Given the description of an element on the screen output the (x, y) to click on. 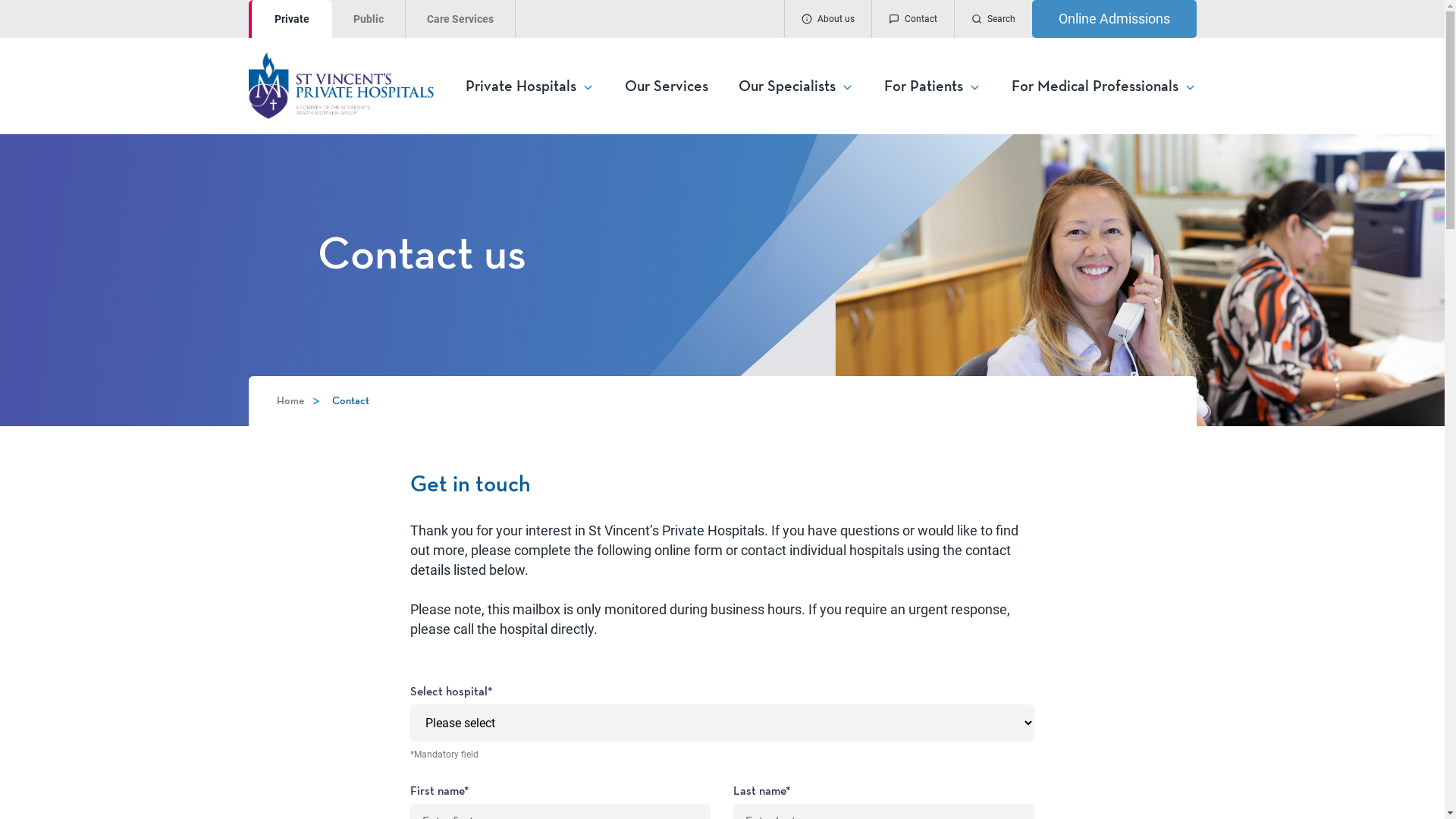
For Medical Professionals Element type: text (1103, 85)
Contact Element type: text (911, 18)
Search Element type: text (992, 18)
Care Services Element type: text (459, 18)
Private Element type: text (290, 18)
Home Element type: text (289, 400)
Private Hospitals Element type: text (529, 85)
About us Element type: text (827, 18)
For Patients Element type: text (932, 85)
Online Admissions Element type: text (1113, 18)
St Vincents Private Hospitals Element type: text (356, 85)
Public Element type: text (368, 18)
Our Specialists Element type: text (795, 85)
Our Services Element type: text (666, 85)
